Given the description of an element on the screen output the (x, y) to click on. 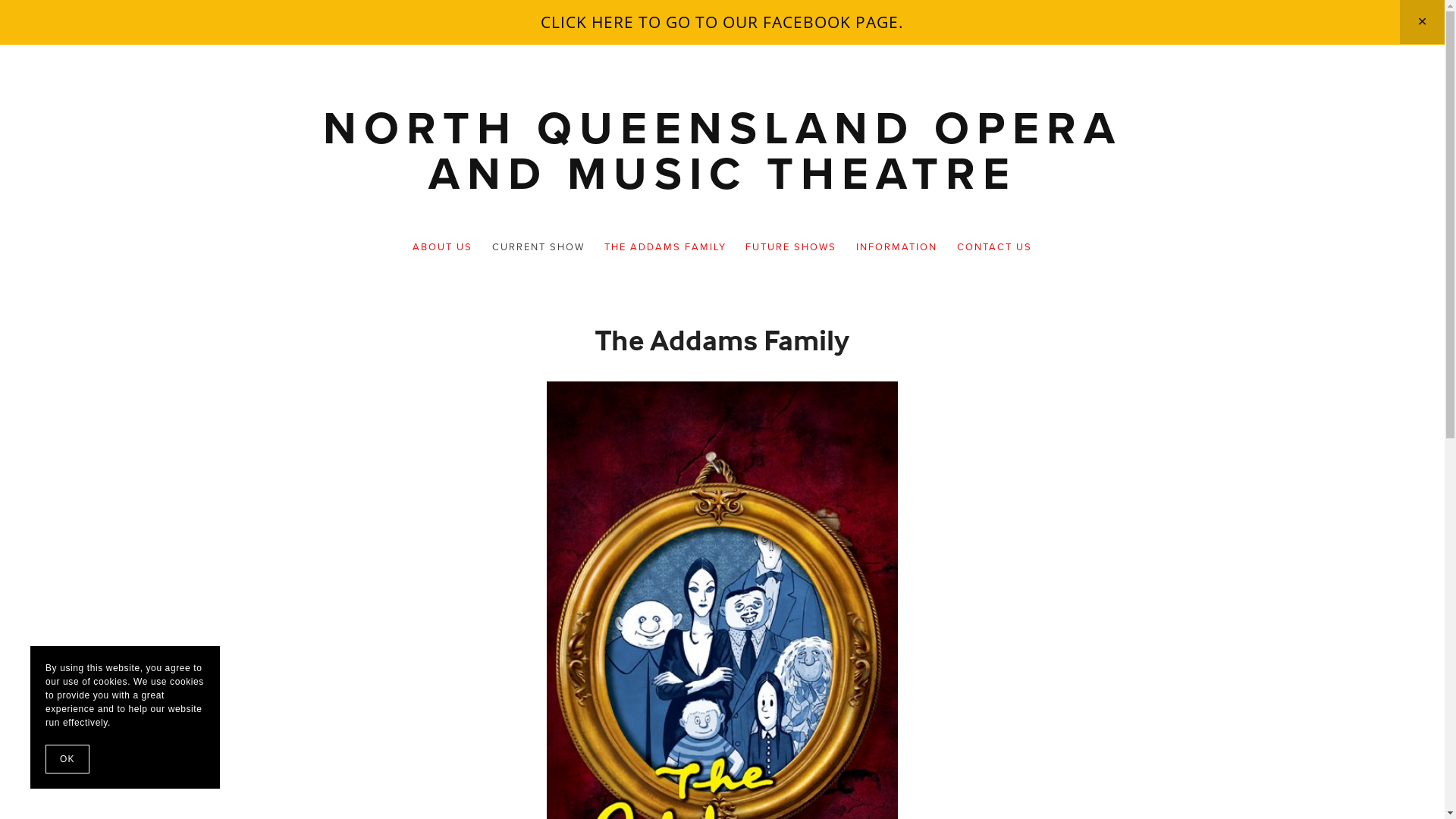
CURRENT SHOW Element type: text (537, 246)
INFORMATION Element type: text (896, 246)
THE ADDAMS FAMILY Element type: text (665, 246)
OK Element type: text (67, 758)
FUTURE SHOWS Element type: text (790, 246)
ABOUT US Element type: text (442, 246)
CONTACT US Element type: text (994, 246)
NORTH QUEENSLAND OPERA AND MUSIC THEATRE Element type: text (722, 150)
